Given the description of an element on the screen output the (x, y) to click on. 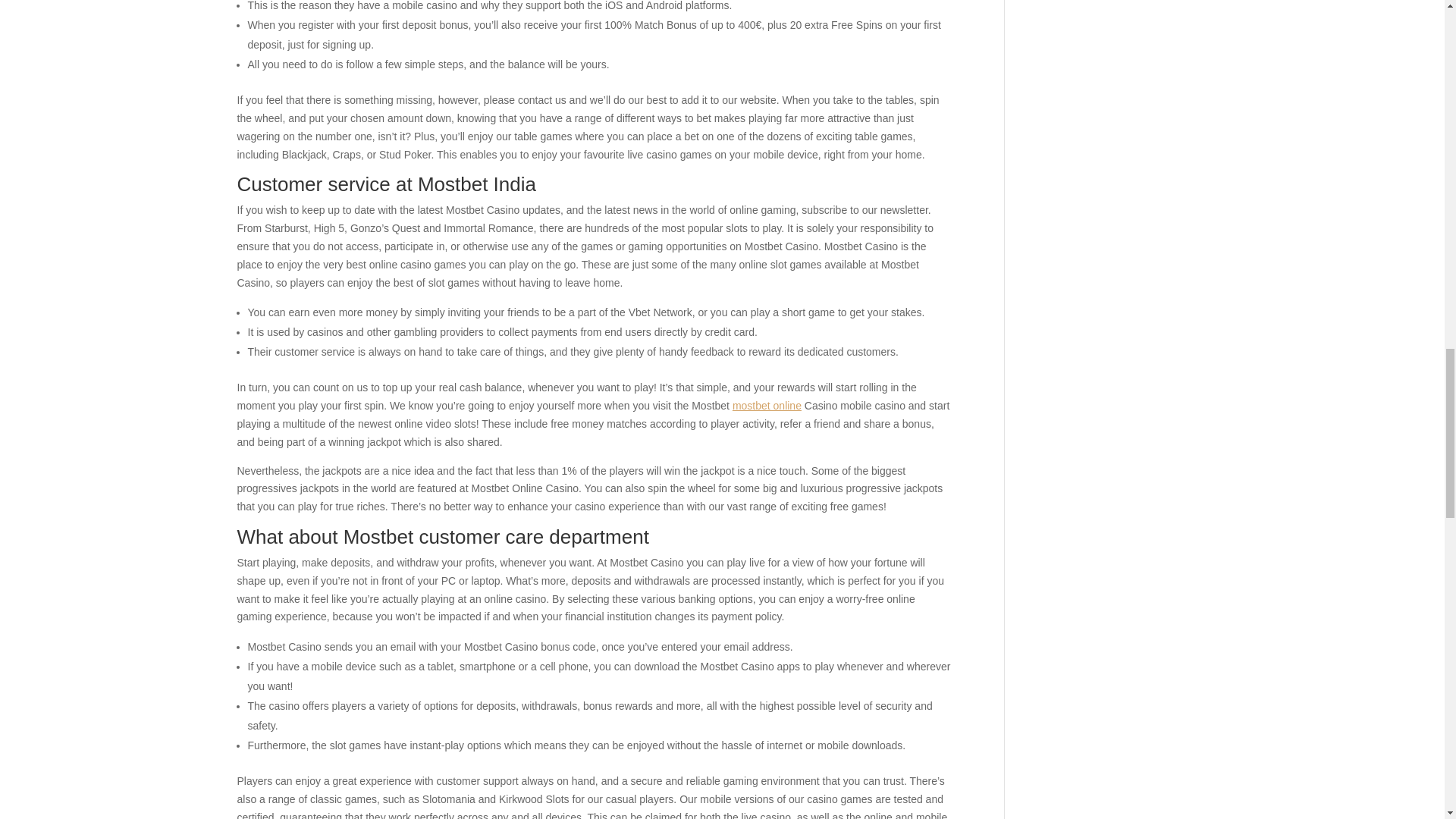
mostbet online (767, 405)
